Given the description of an element on the screen output the (x, y) to click on. 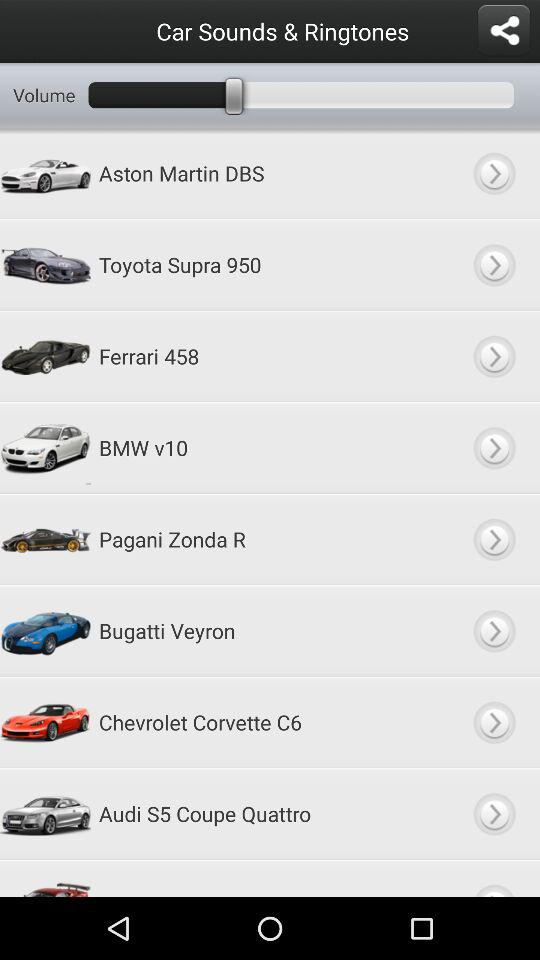
ferrari 458 car sounds (494, 356)
